Given the description of an element on the screen output the (x, y) to click on. 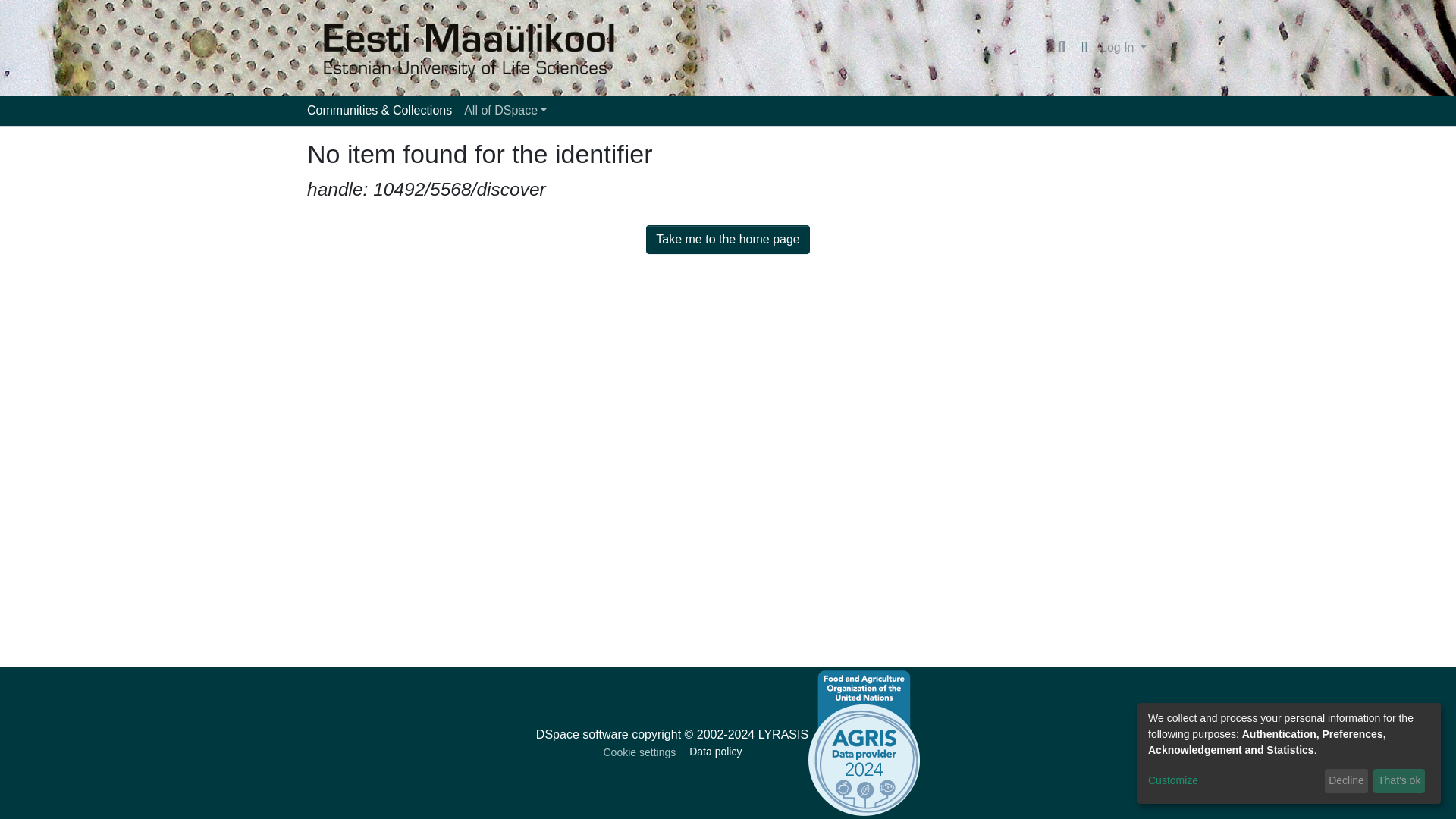
Cookie settings (638, 751)
Decline (1346, 781)
All of DSpace (505, 110)
DSpace software (581, 734)
Take me to the home page (727, 239)
Log In (1122, 47)
LYRASIS (783, 734)
Customize (1233, 780)
Data policy (715, 751)
Search (1060, 47)
Language switch (1084, 47)
That's ok (1399, 781)
